Given the description of an element on the screen output the (x, y) to click on. 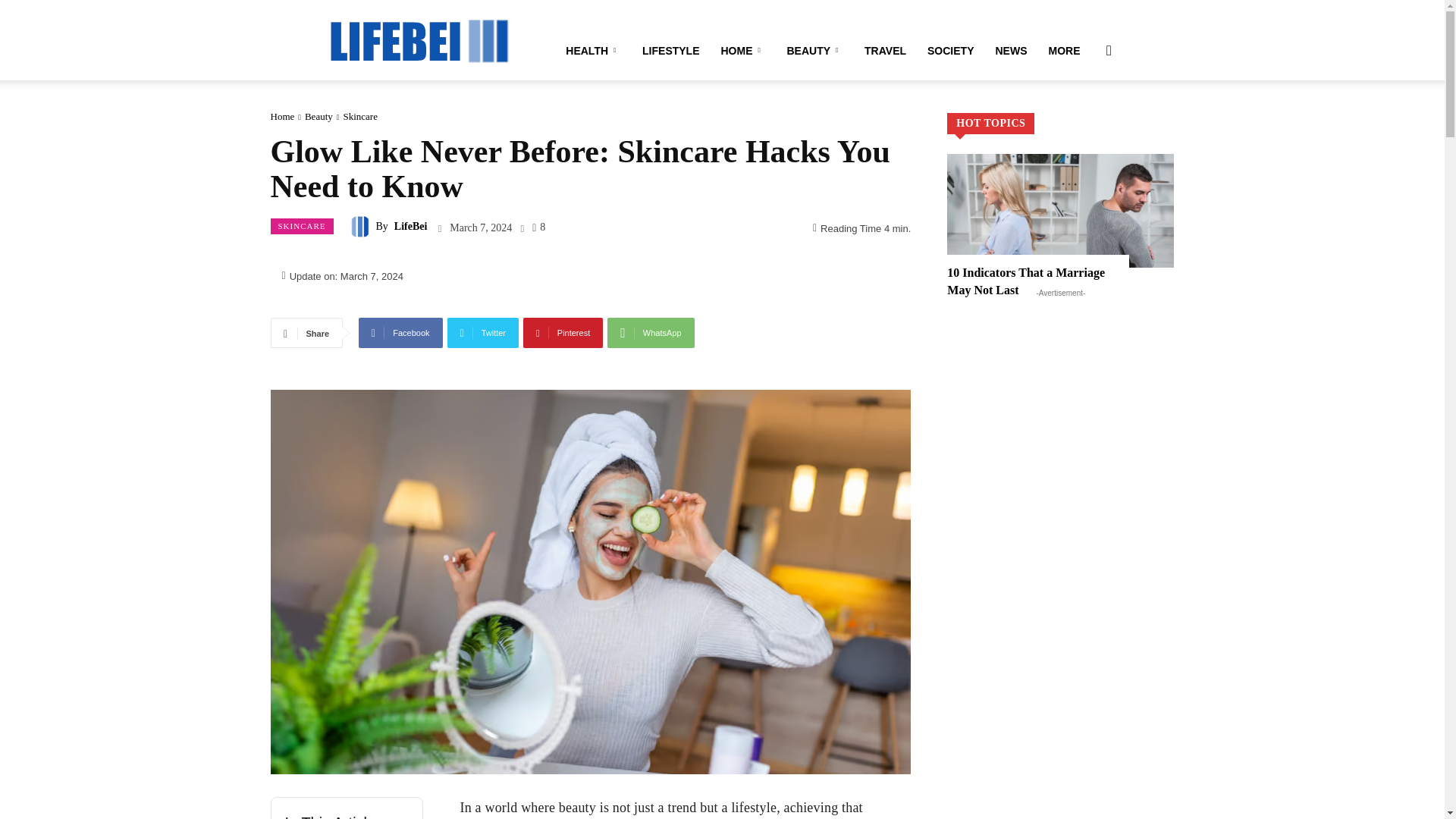
LifeBei Best Lifestyle Tips (419, 39)
View all posts in Skincare (359, 116)
10 Indicators That a Marriage May Not Last (1026, 280)
HOME (743, 50)
View all posts in Beauty (318, 116)
Twitter (482, 332)
Pinterest (562, 332)
LIFESTYLE (670, 50)
10 Indicators That a Marriage May Not Last (1060, 210)
LifeBei (362, 226)
Search (1085, 122)
LifeBei (419, 39)
WhatsApp (650, 332)
HEALTH (592, 50)
Facebook (400, 332)
